Given the description of an element on the screen output the (x, y) to click on. 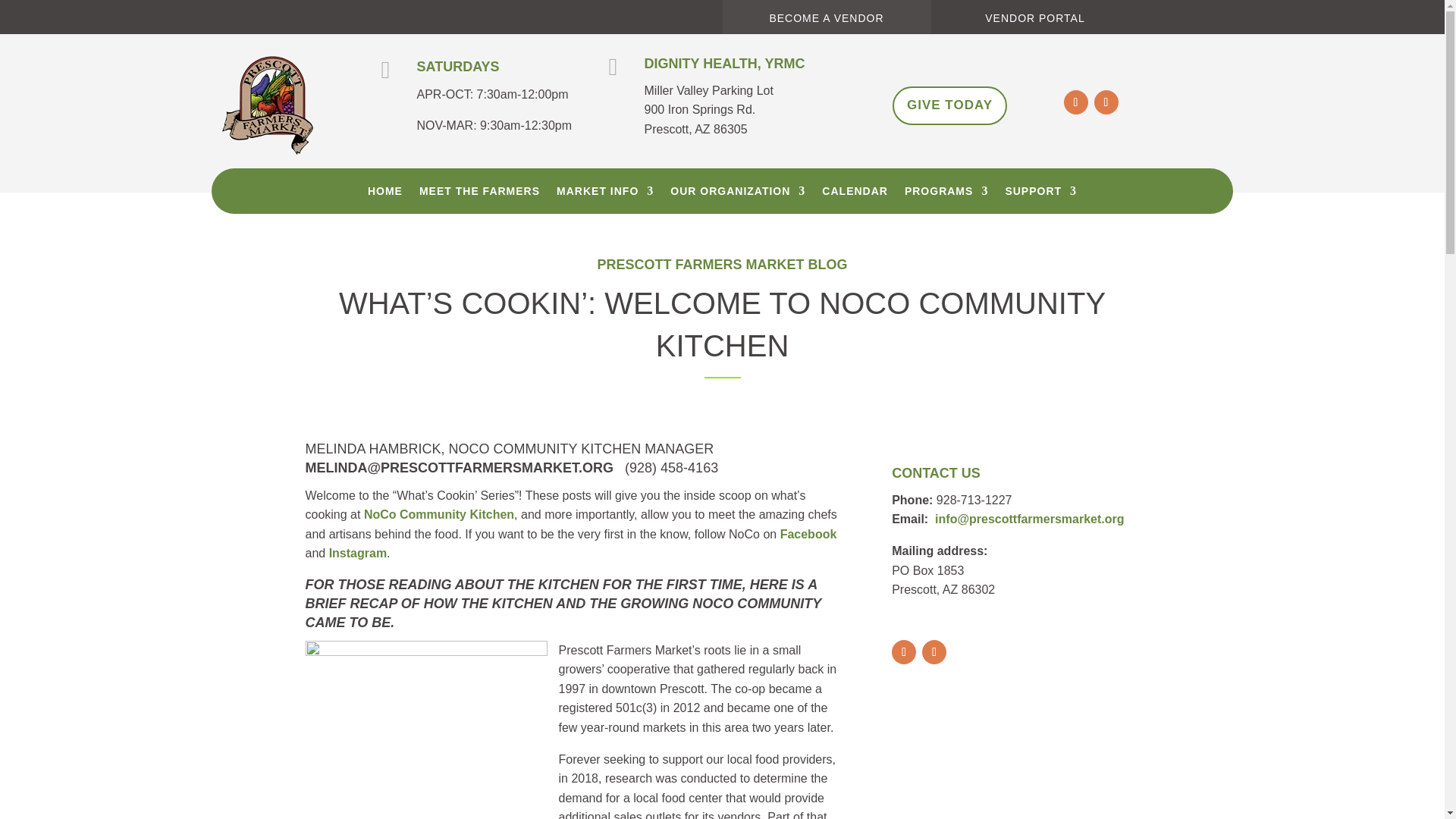
PROGRAMS (946, 193)
CALENDAR (855, 193)
Follow on Facebook (1074, 102)
SUPPORT (1040, 193)
pfm-logo-120-130 (267, 105)
DIGNITY HEALTH, YRMC (725, 63)
MARKET INFO (604, 193)
Follow on Facebook (903, 651)
MEET THE FARMERS (479, 193)
Follow on Instagram (933, 651)
HOME (385, 193)
GIVE TODAY (949, 105)
Follow on Instagram (1105, 102)
OUR ORGANIZATION (737, 193)
